Given the description of an element on the screen output the (x, y) to click on. 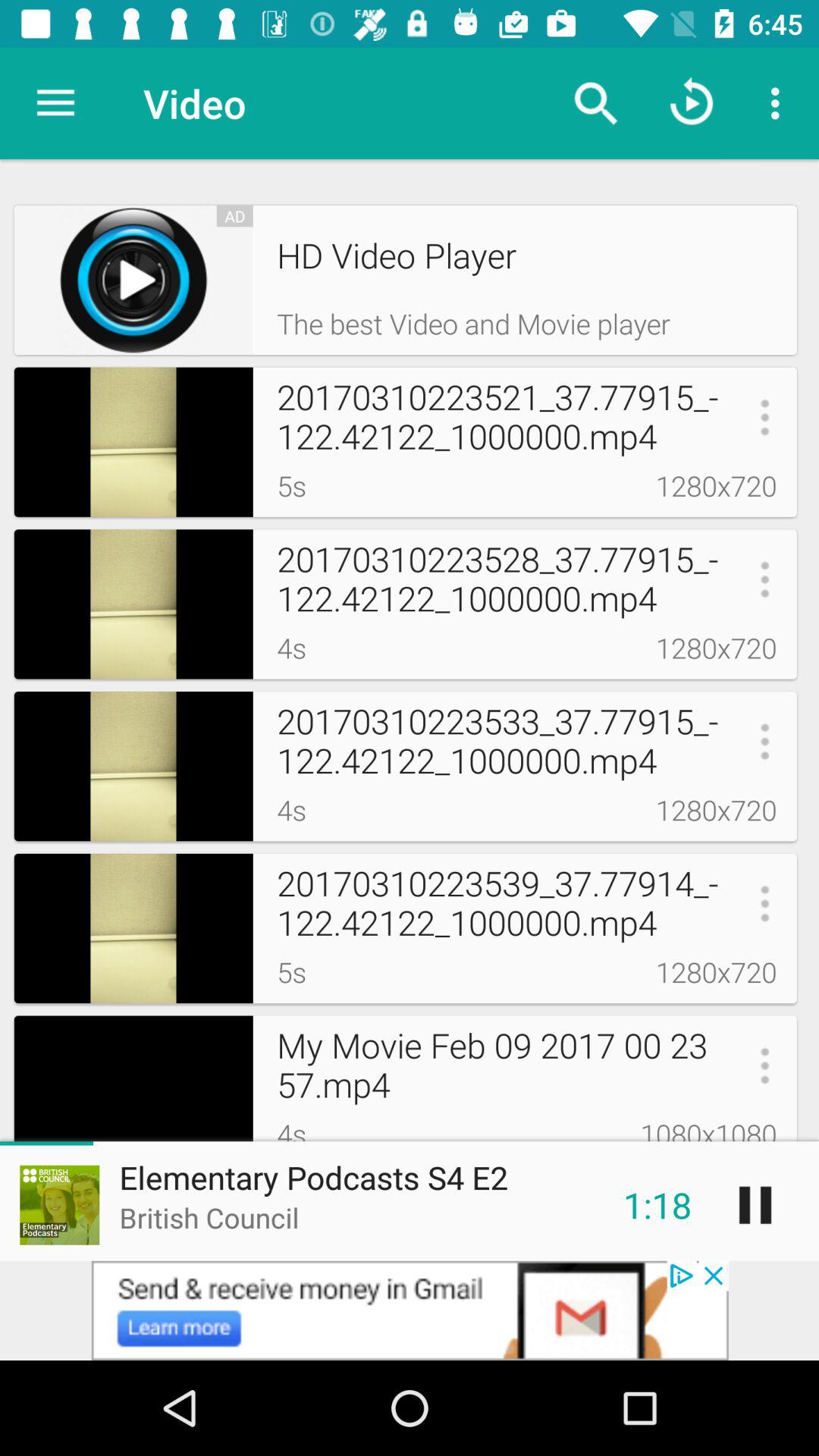
click to view advertisements options (409, 1310)
